Given the description of an element on the screen output the (x, y) to click on. 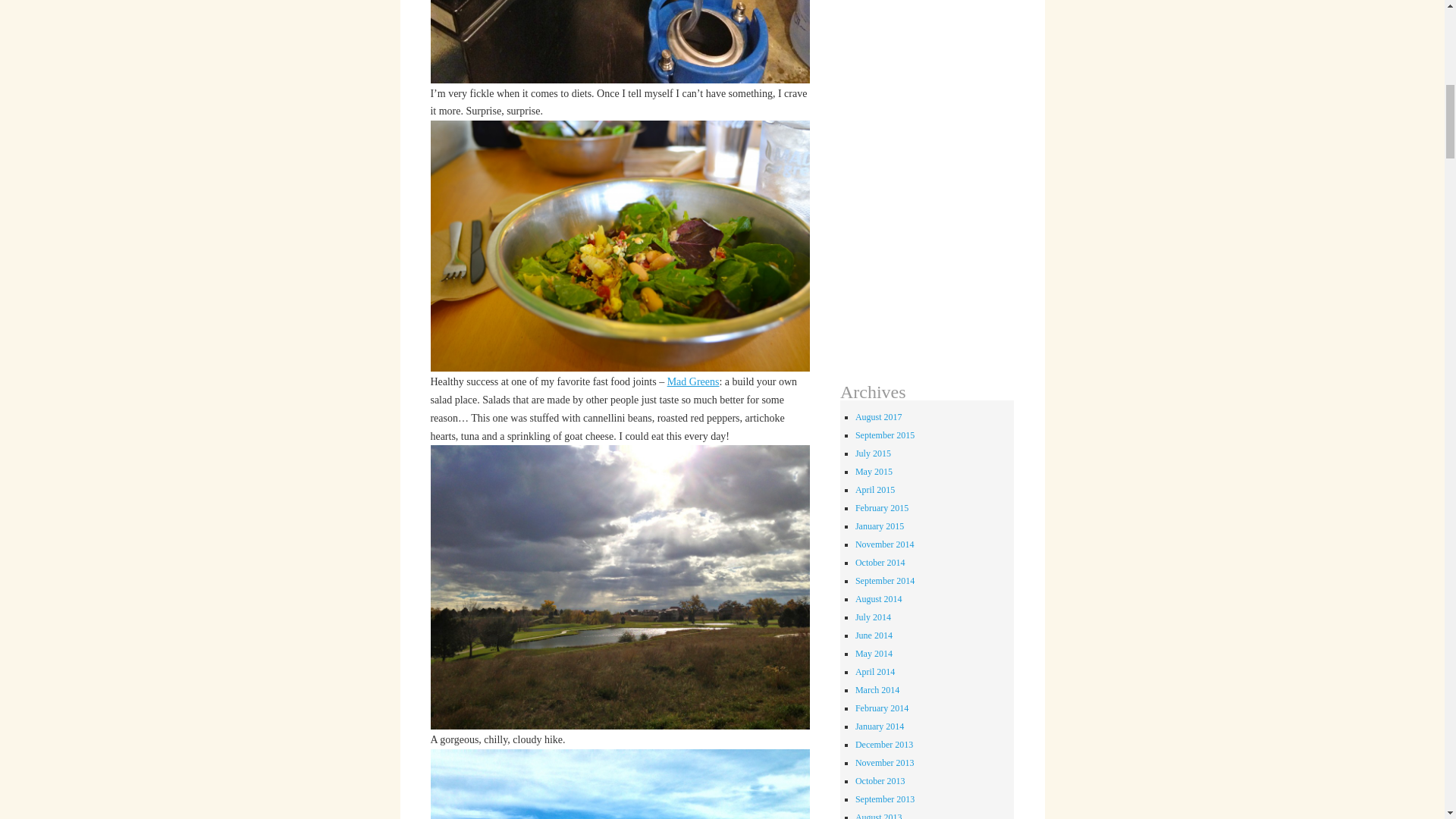
Mad Greens (692, 381)
